Given the description of an element on the screen output the (x, y) to click on. 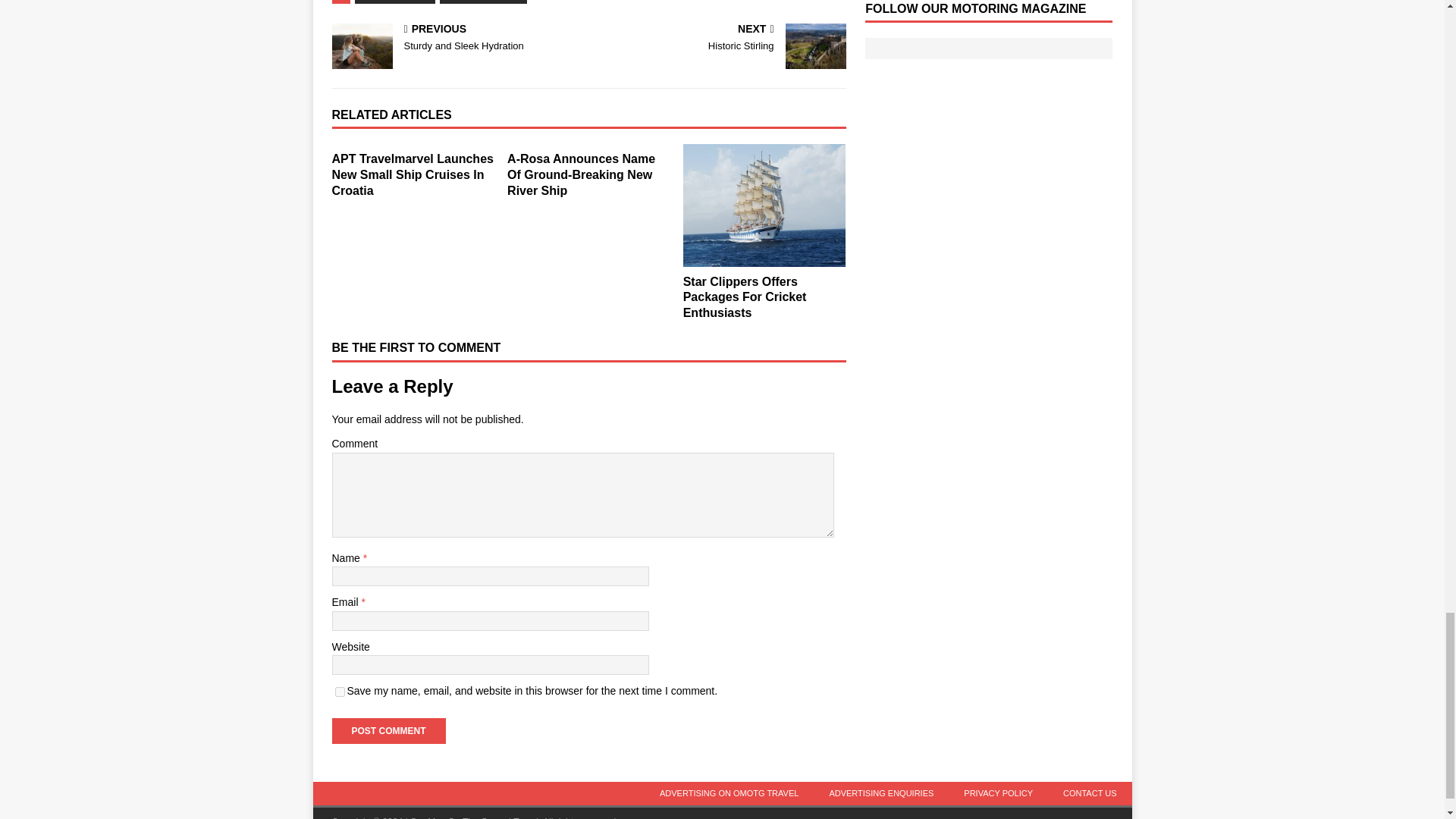
yes (339, 691)
Post Comment (388, 730)
APT Travelmarvel Launches New Small Ship Cruises In Croatia (412, 174)
